Given the description of an element on the screen output the (x, y) to click on. 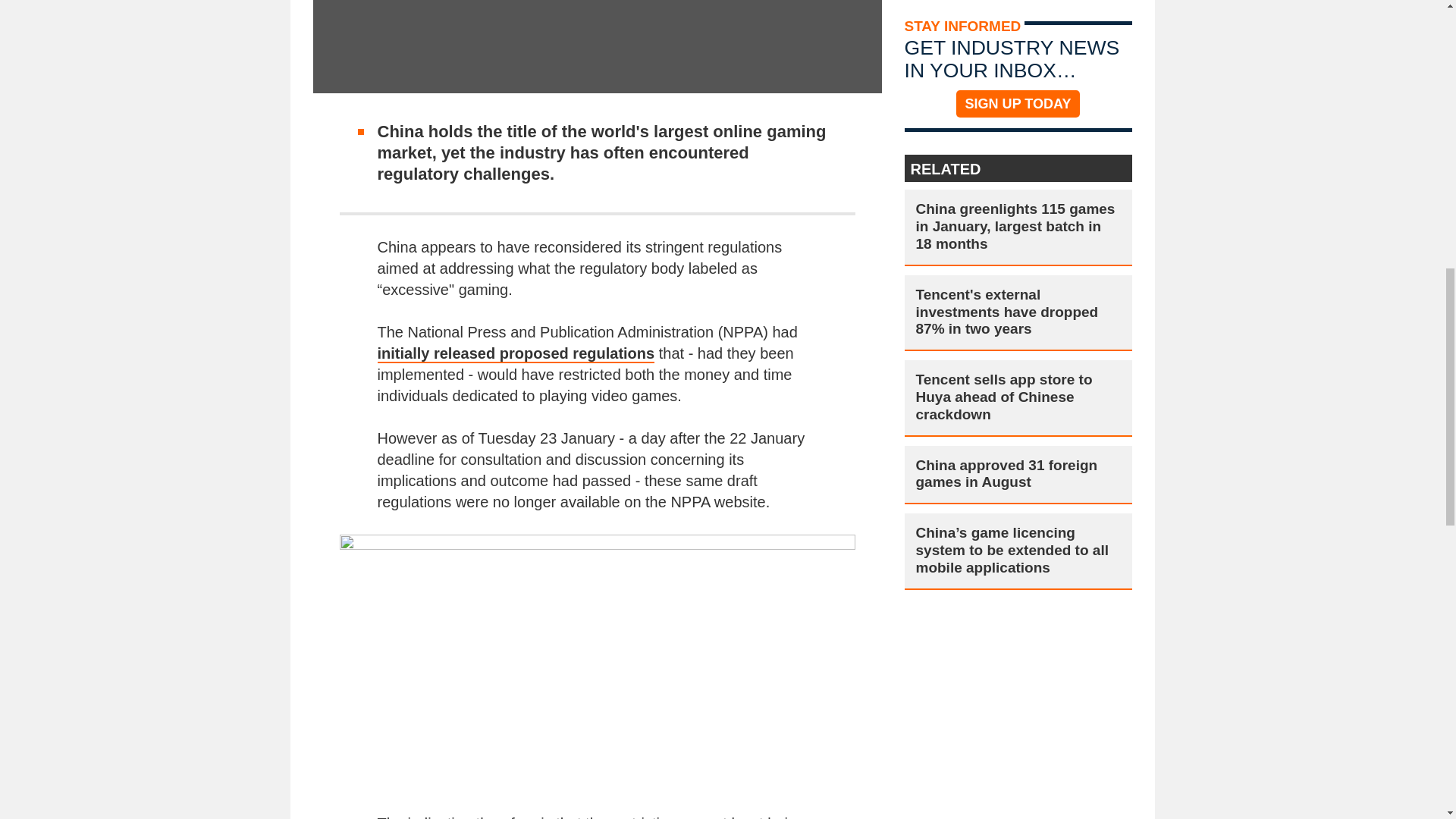
initially released proposed regulations (516, 353)
Tencent sells app store to Huya ahead of Chinese crackdown (1017, 397)
China approved 31 foreign games in August (1017, 474)
